Given the description of an element on the screen output the (x, y) to click on. 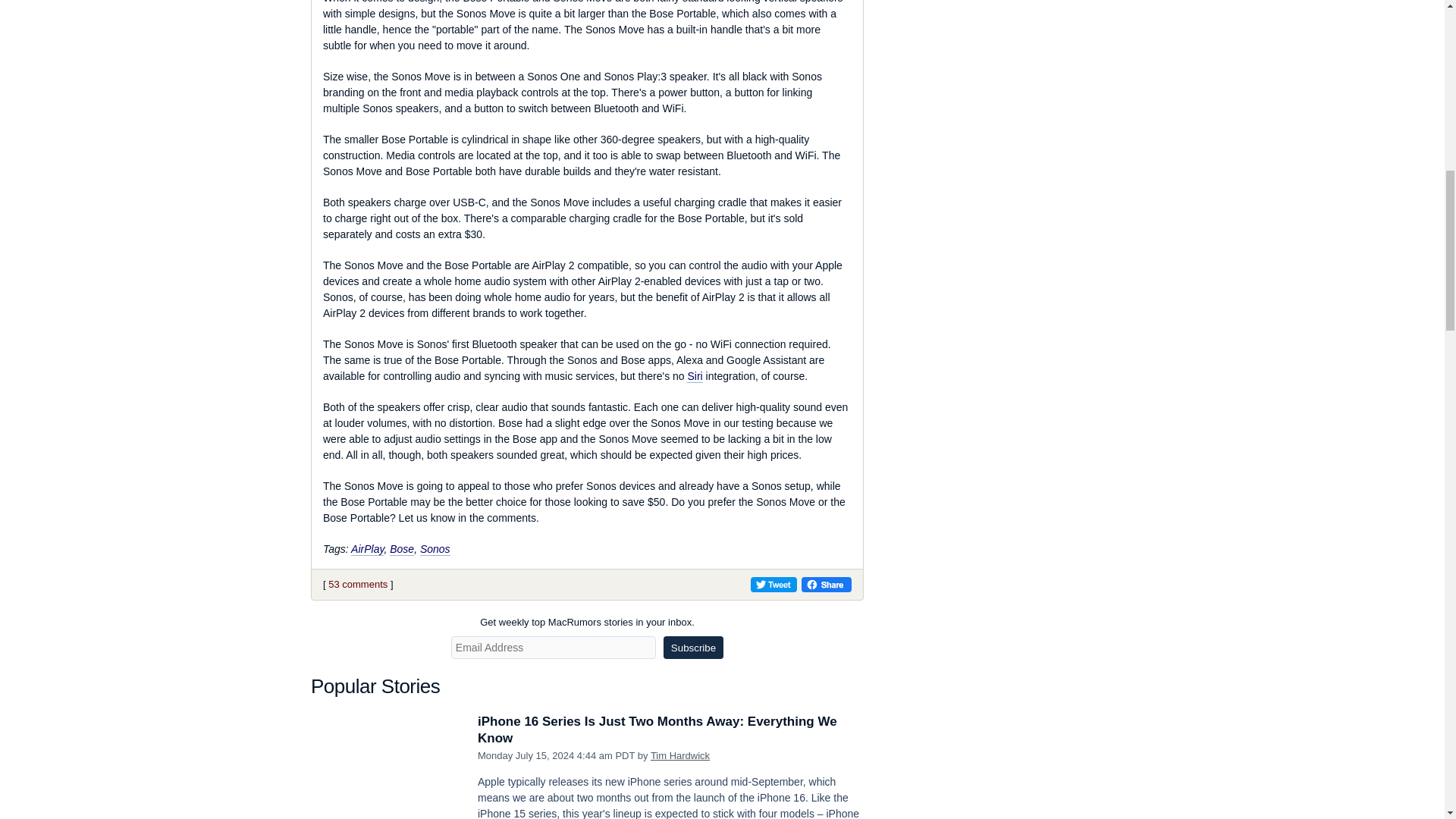
Subscribe (693, 647)
